Given the description of an element on the screen output the (x, y) to click on. 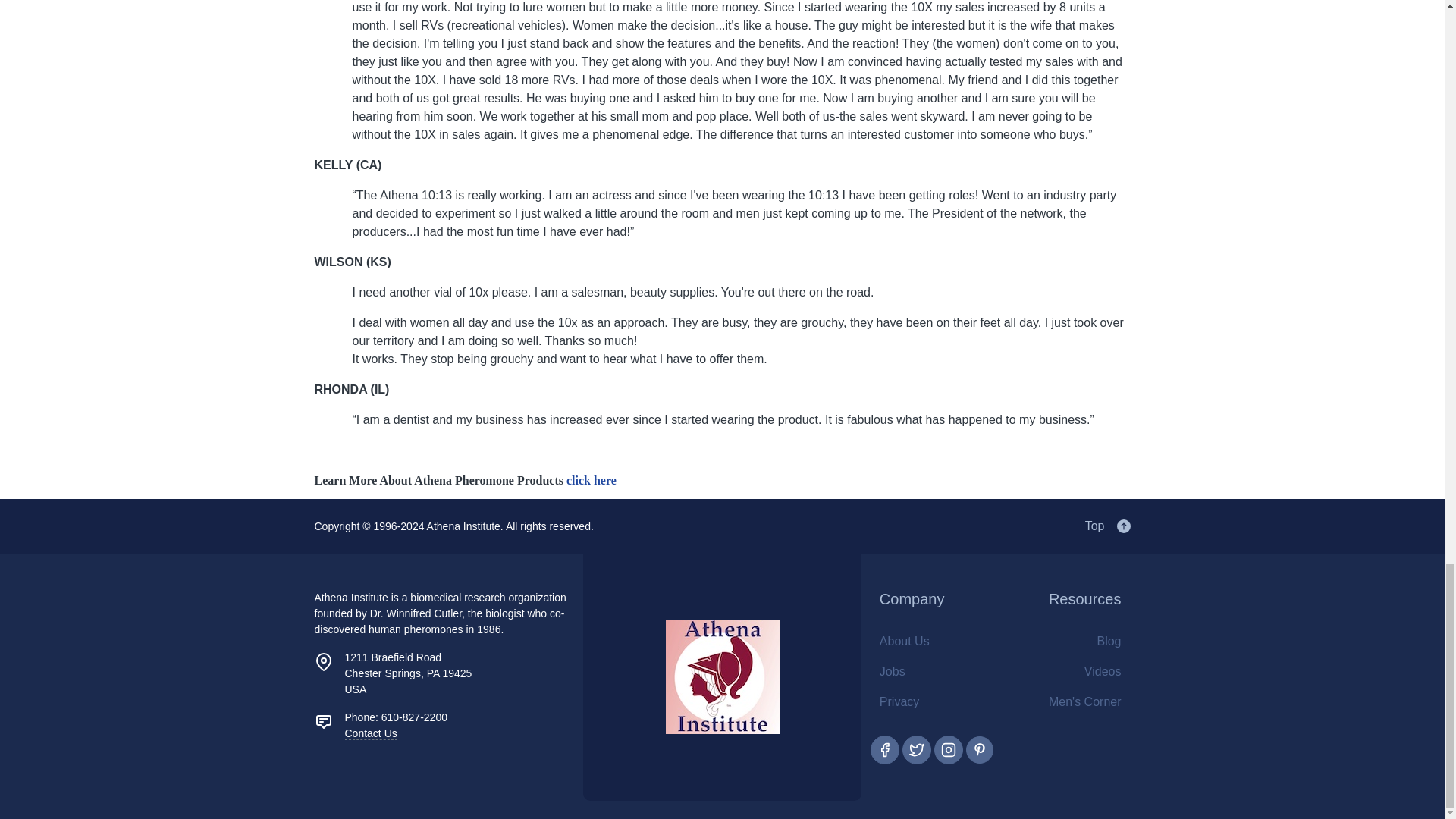
pinterest (979, 749)
facebook (884, 749)
twitter (916, 749)
instagram (948, 749)
